Given the description of an element on the screen output the (x, y) to click on. 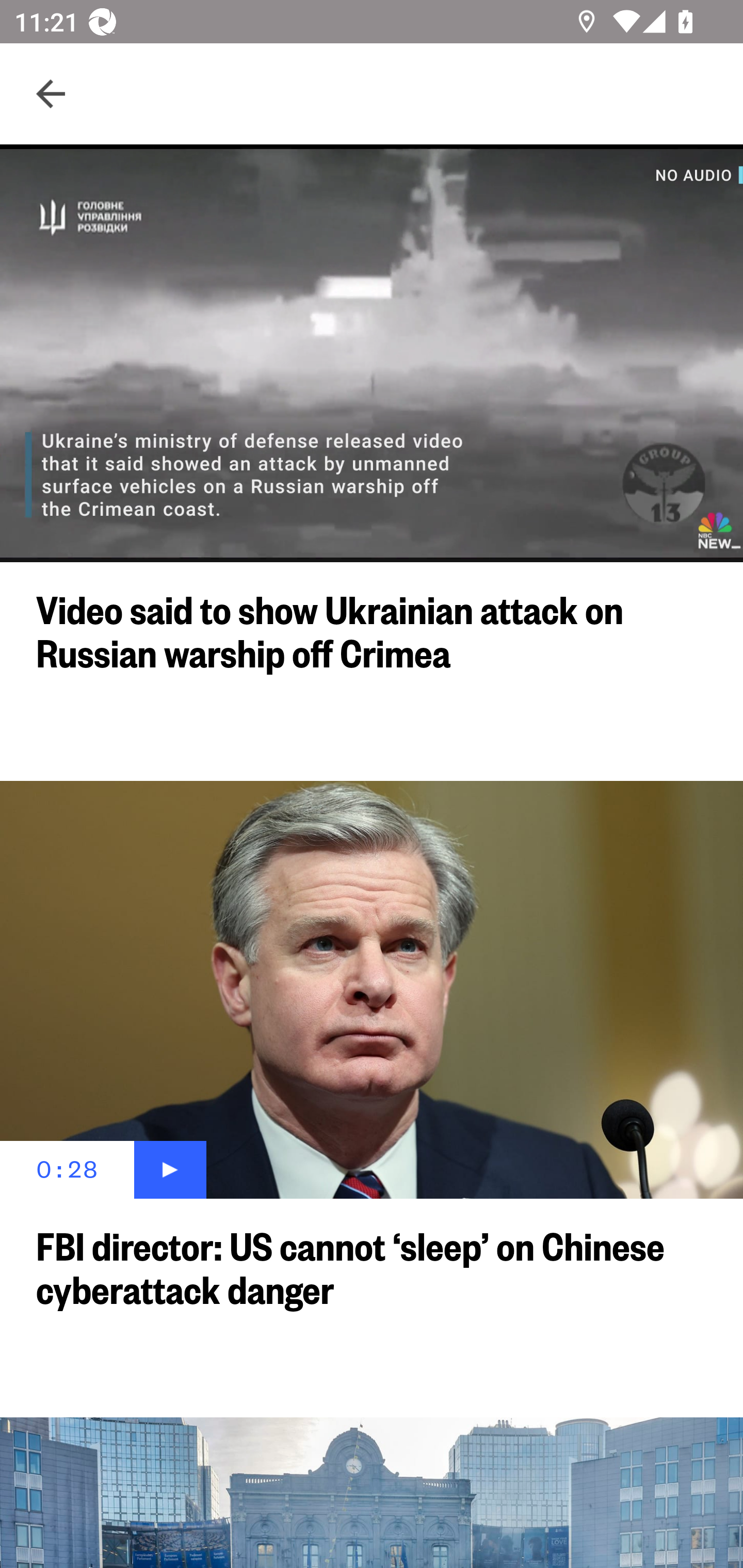
Navigate up (50, 93)
